Given the description of an element on the screen output the (x, y) to click on. 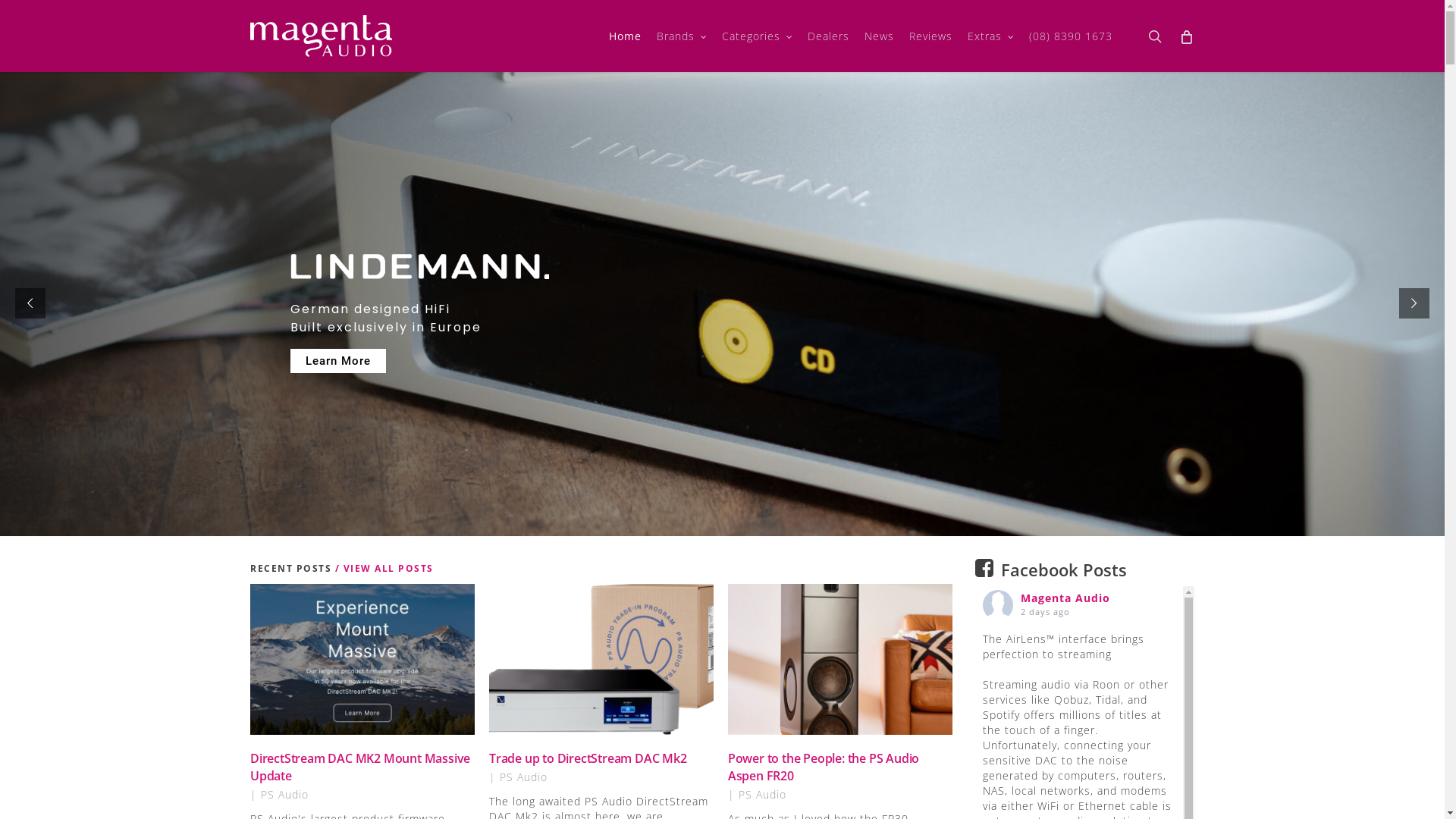
search Element type: text (1154, 35)
Home Element type: text (625, 35)
Power to the People: the PS Audio Aspen FR20 Element type: text (823, 766)
PS Audio Element type: text (523, 776)
Trade up to DirectStream DAC Mk2 Element type: text (588, 757)
(08) 8390 1673 Element type: text (1070, 35)
Extras Element type: text (990, 35)
DirectStream DAC MK2 Mount Massive Update Element type: text (360, 766)
Reviews Element type: text (930, 35)
News Element type: text (878, 35)
/ VIEW ALL POSTS Element type: text (382, 567)
Categories Element type: text (757, 35)
PS Audio Element type: text (762, 794)
Brands Element type: text (681, 35)
Magenta Audio Element type: text (1065, 597)
Dealers Element type: text (828, 35)
PS Audio Element type: text (284, 794)
